Given the description of an element on the screen output the (x, y) to click on. 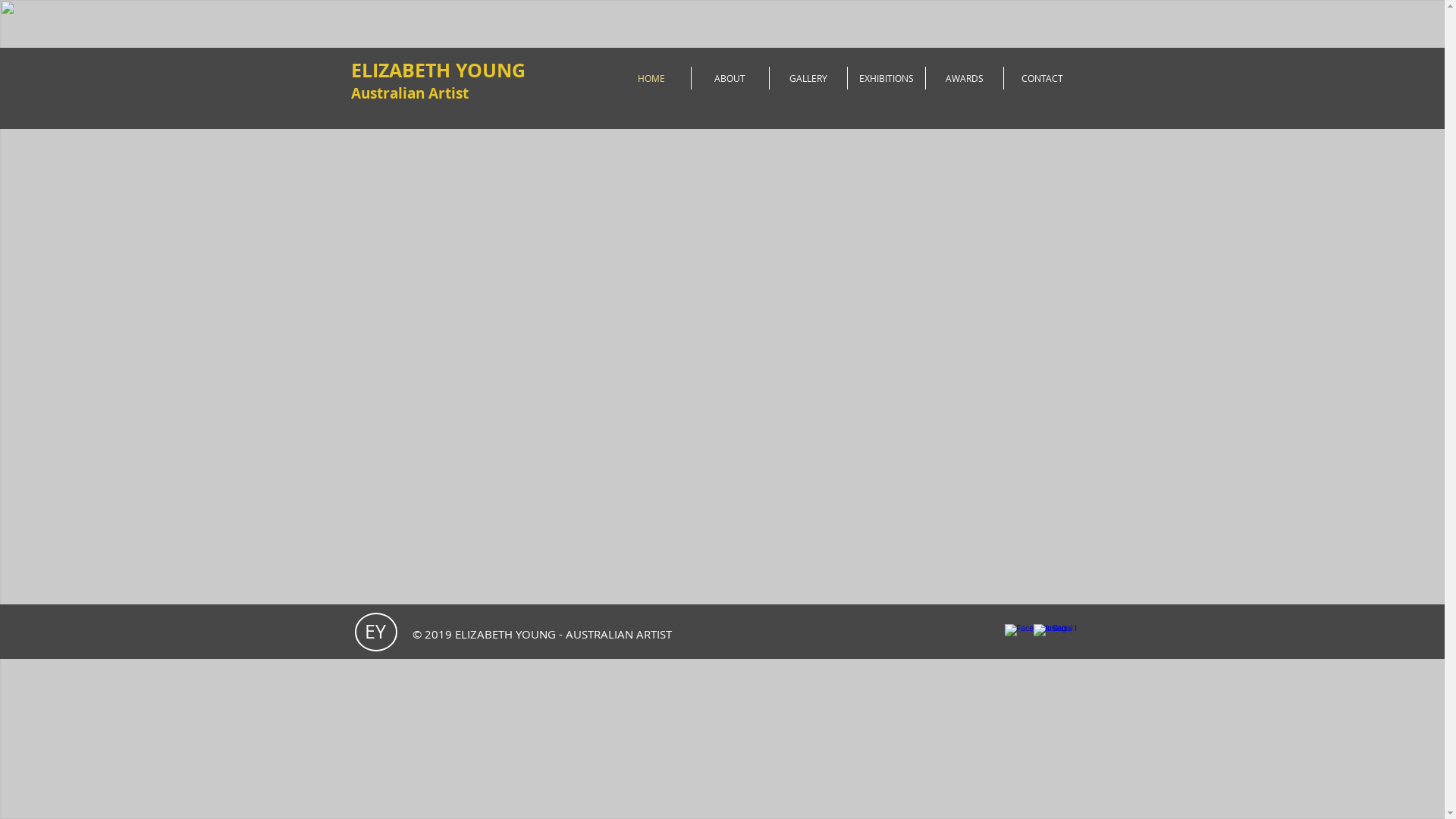
EXHIBITIONS Element type: text (886, 77)
GALLERY Element type: text (807, 77)
ABOUT Element type: text (729, 77)
AWARDS Element type: text (963, 77)
CONTACT Element type: text (1042, 77)
HOME Element type: text (651, 77)
